Given the description of an element on the screen output the (x, y) to click on. 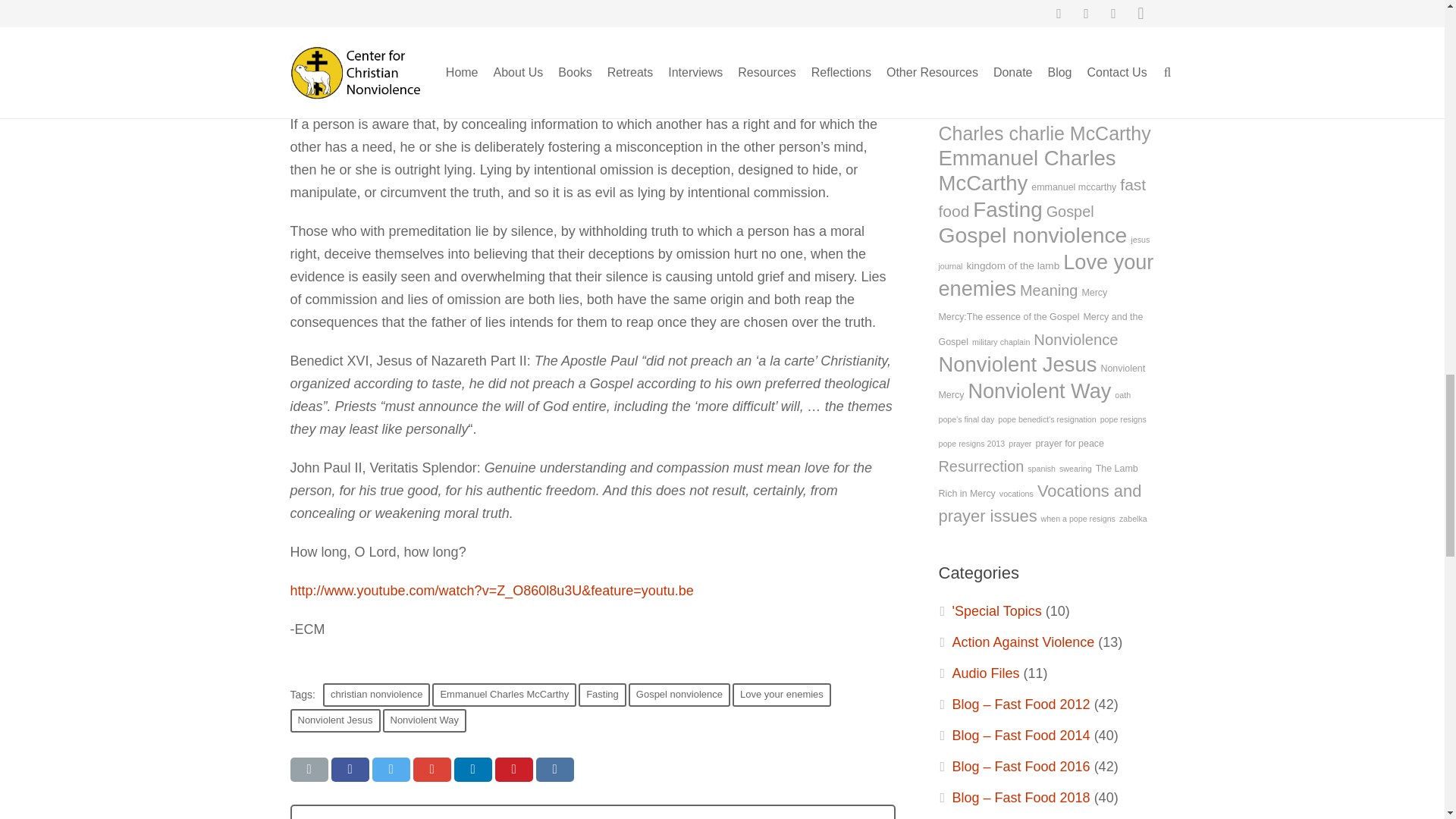
Nonviolent Jesus (334, 720)
Emmanuel Charles McCarthy (504, 694)
Share this (430, 769)
Nonviolent Way (423, 720)
Fasting (602, 694)
Share this (472, 769)
Gospel nonviolence (679, 694)
Pin this (513, 769)
Love your enemies (781, 694)
Share this (554, 769)
